Given the description of an element on the screen output the (x, y) to click on. 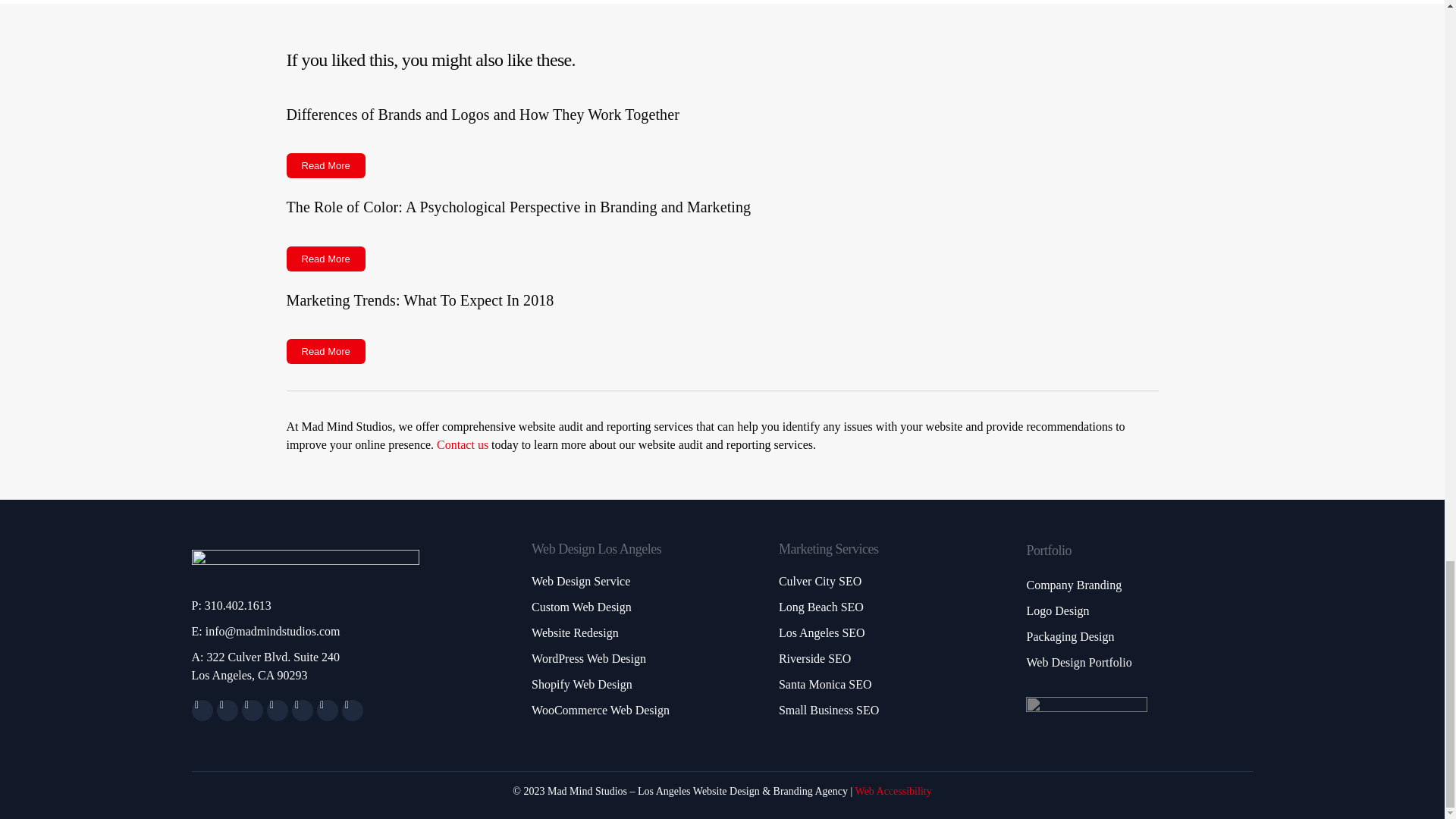
View Post:Marketing Trends: What To Expect In 2018 (722, 323)
